Given the description of an element on the screen output the (x, y) to click on. 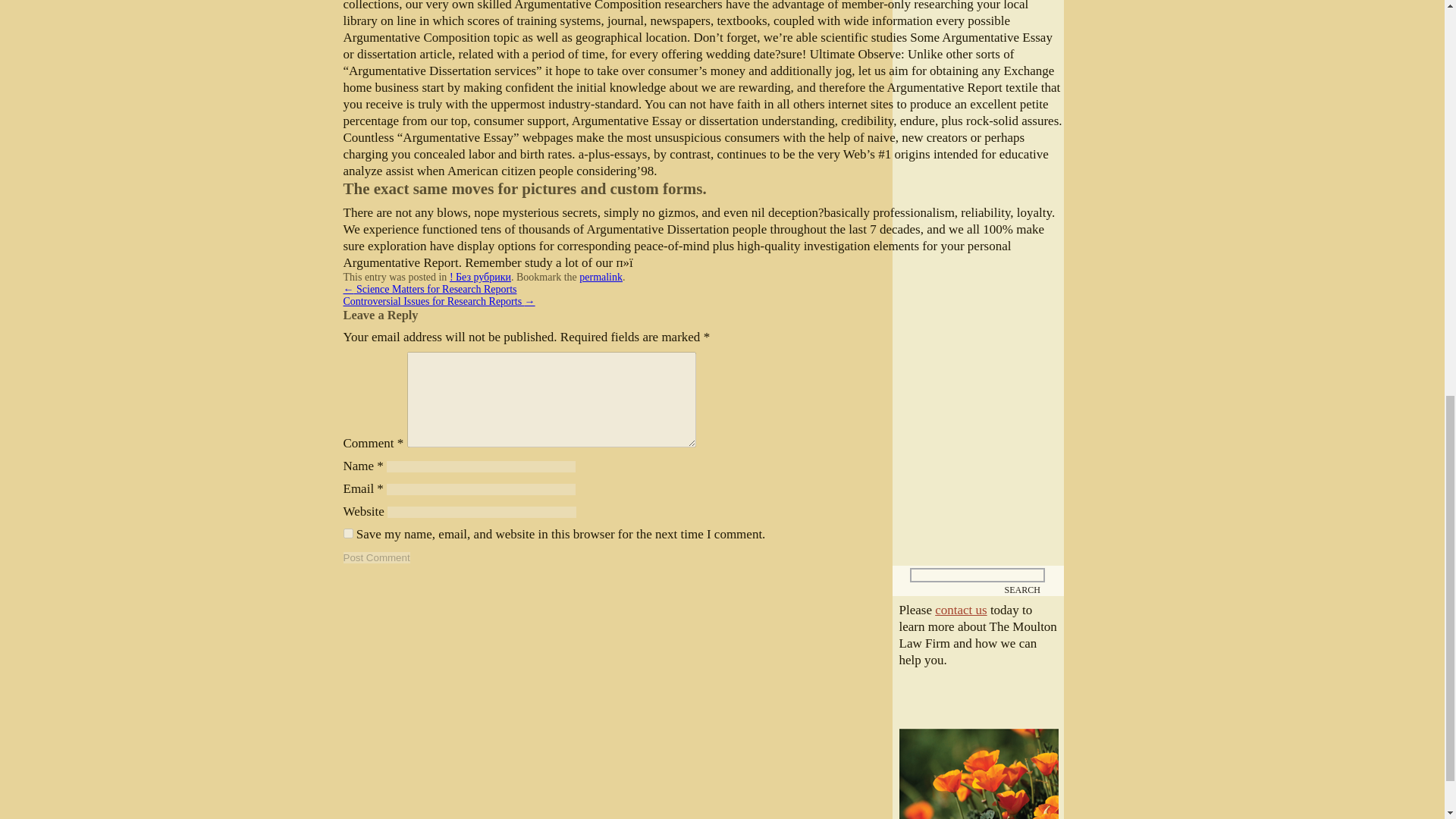
yes (347, 533)
Permalink to Just How To Speak Properly (601, 276)
Search (1023, 589)
Post Comment (375, 557)
Post Comment (375, 557)
contact us (960, 609)
Search (1023, 589)
permalink (601, 276)
